Given the description of an element on the screen output the (x, y) to click on. 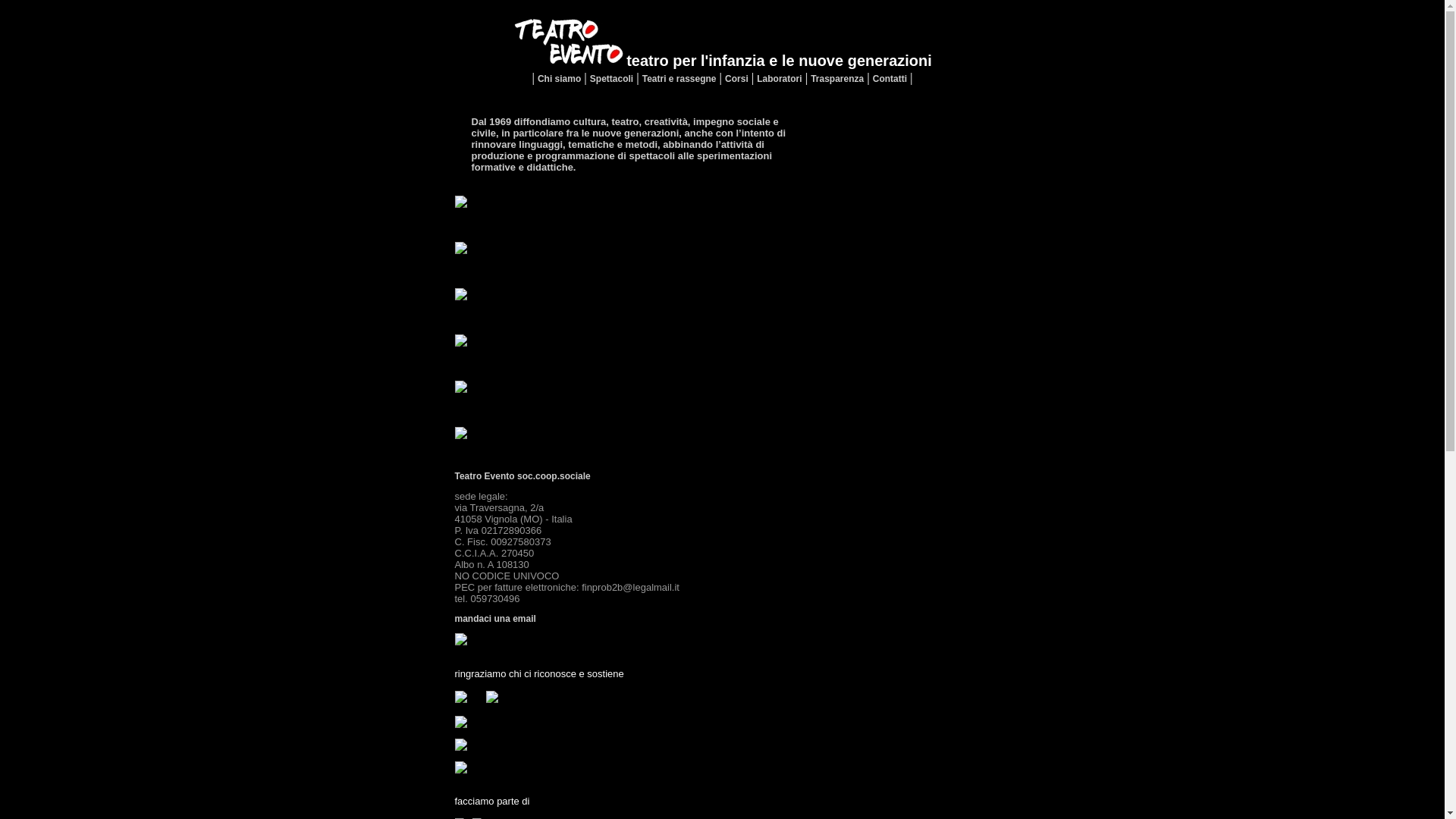
Contatti Element type: text (889, 78)
Corsi Element type: text (736, 78)
Spettacoli Element type: text (611, 78)
Chi siamo Element type: text (558, 78)
Trasparenza Element type: text (836, 78)
Laboratori Element type: text (778, 78)
Teatri e rassegne Element type: text (679, 78)
